Given the description of an element on the screen output the (x, y) to click on. 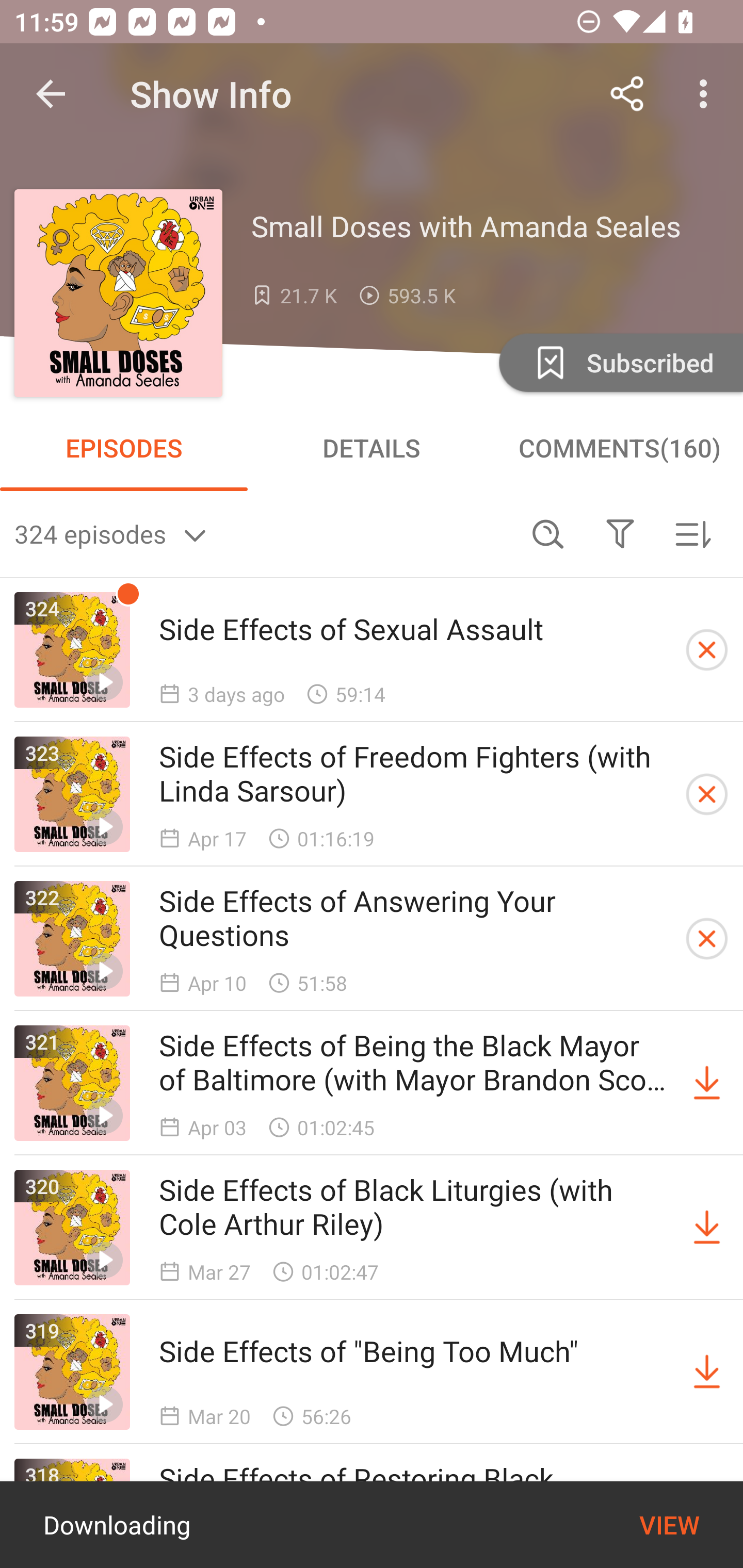
Navigate up (50, 93)
Share (626, 93)
More options (706, 93)
Unsubscribe Subscribed (619, 361)
EPISODES (123, 447)
DETAILS (371, 447)
COMMENTS(160) (619, 447)
324 episodes  (262, 533)
 Search (547, 533)
 (619, 533)
 Sorted by newest first (692, 533)
Cancel Downloading (706, 649)
Cancel Downloading (706, 793)
Cancel Downloading (706, 939)
Download (706, 1083)
Download (706, 1227)
Download (706, 1371)
100.0 Medicine Woman Played Play (371, 1524)
VIEW (669, 1524)
